Given the description of an element on the screen output the (x, y) to click on. 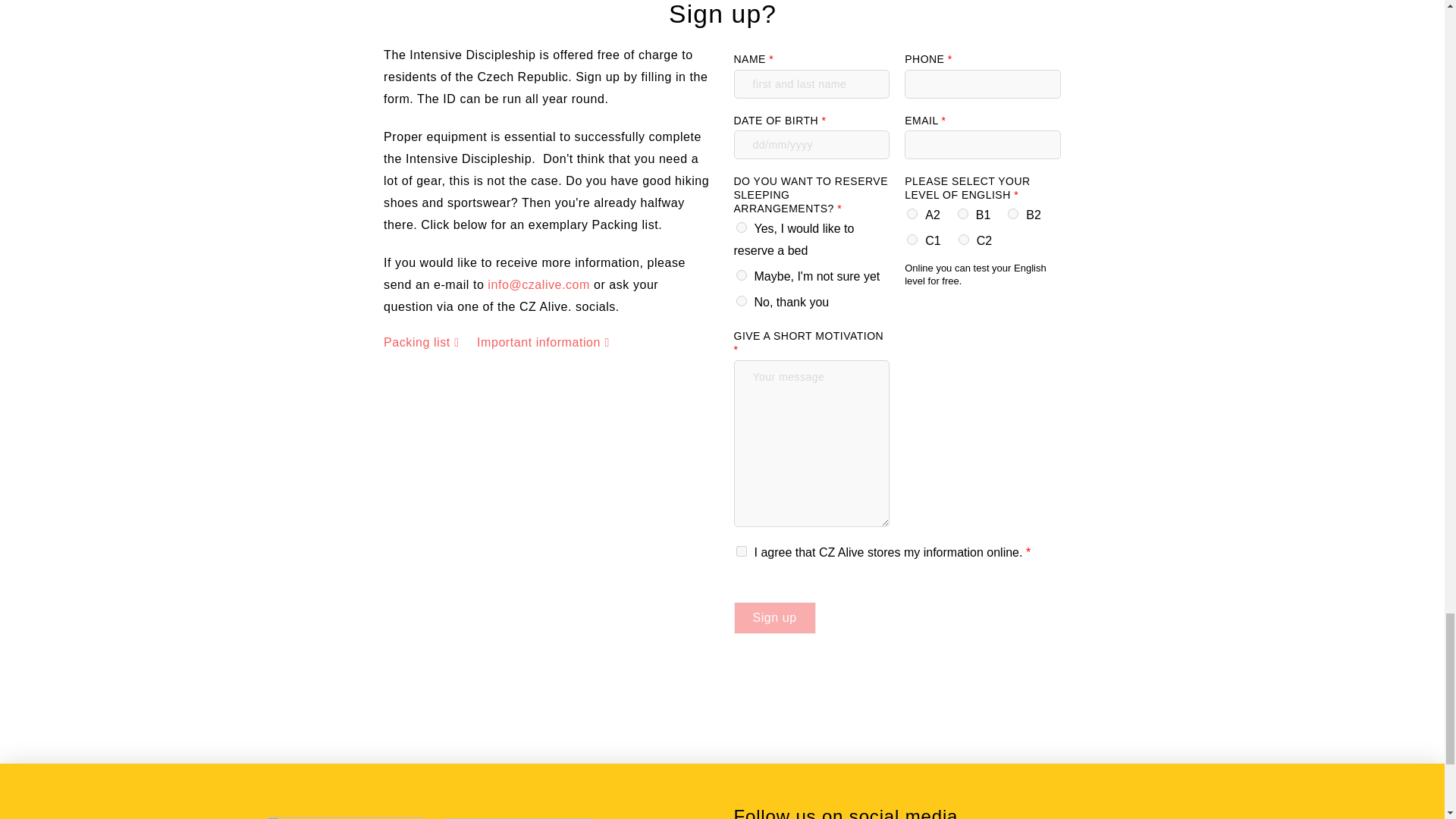
A2 (912, 213)
Yes, I would like to reserve a bed (740, 226)
I agree that CZ Alive stores my information online. (740, 551)
C2 (963, 239)
No, thank you (740, 300)
C1 (912, 239)
B2 (1012, 213)
B1 (963, 213)
Sign up (774, 617)
Maybe, I'm not sure yet (740, 275)
